Given the description of an element on the screen output the (x, y) to click on. 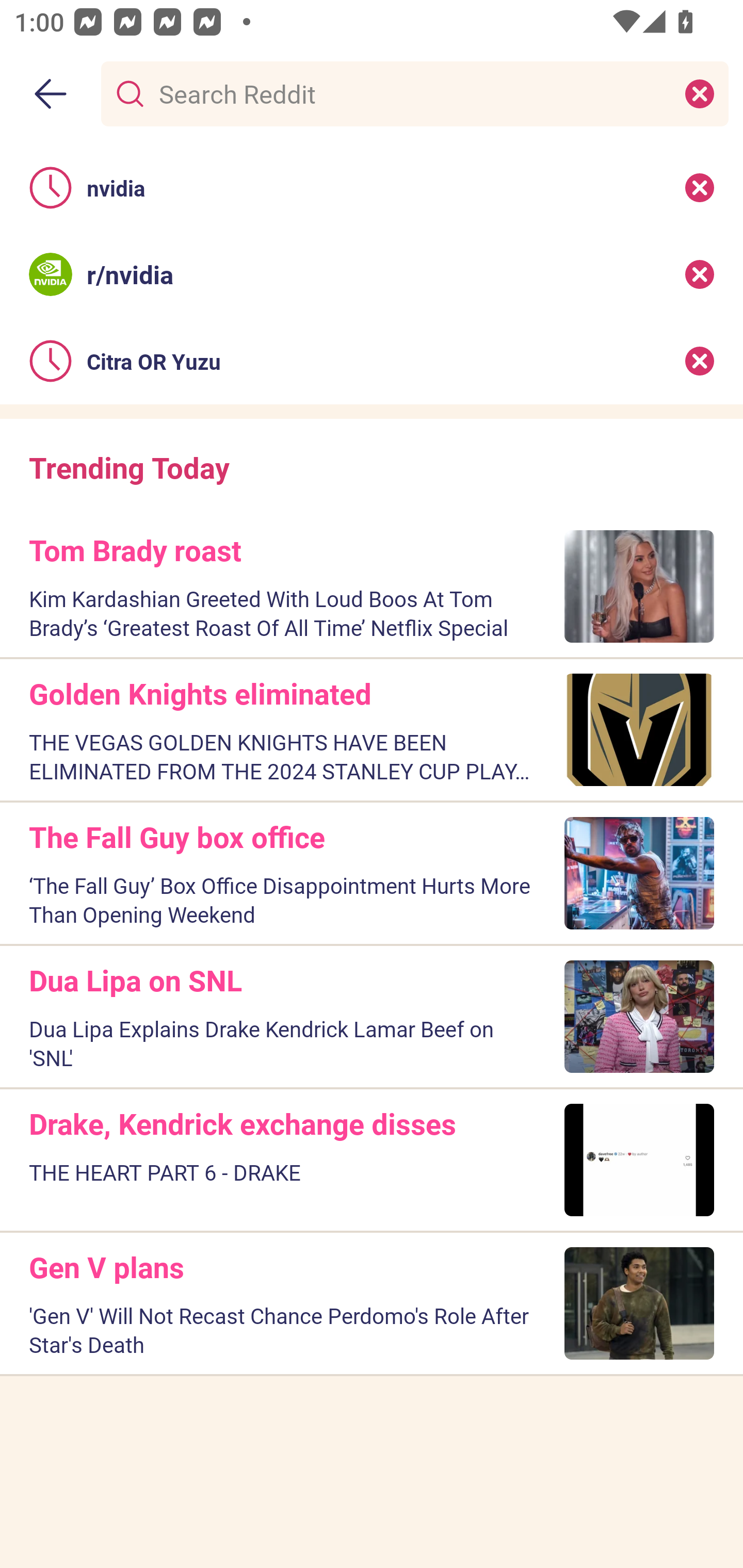
Back (50, 93)
Search Reddit (410, 93)
Clear search (699, 93)
nvidia Recent search: nvidia Remove (371, 187)
Remove (699, 187)
r/nvidia Recent search: r/nvidia Remove (371, 274)
Remove (699, 274)
Citra OR Yuzu Recent search: Citra OR Yuzu Remove (371, 361)
Remove (699, 361)
